Given the description of an element on the screen output the (x, y) to click on. 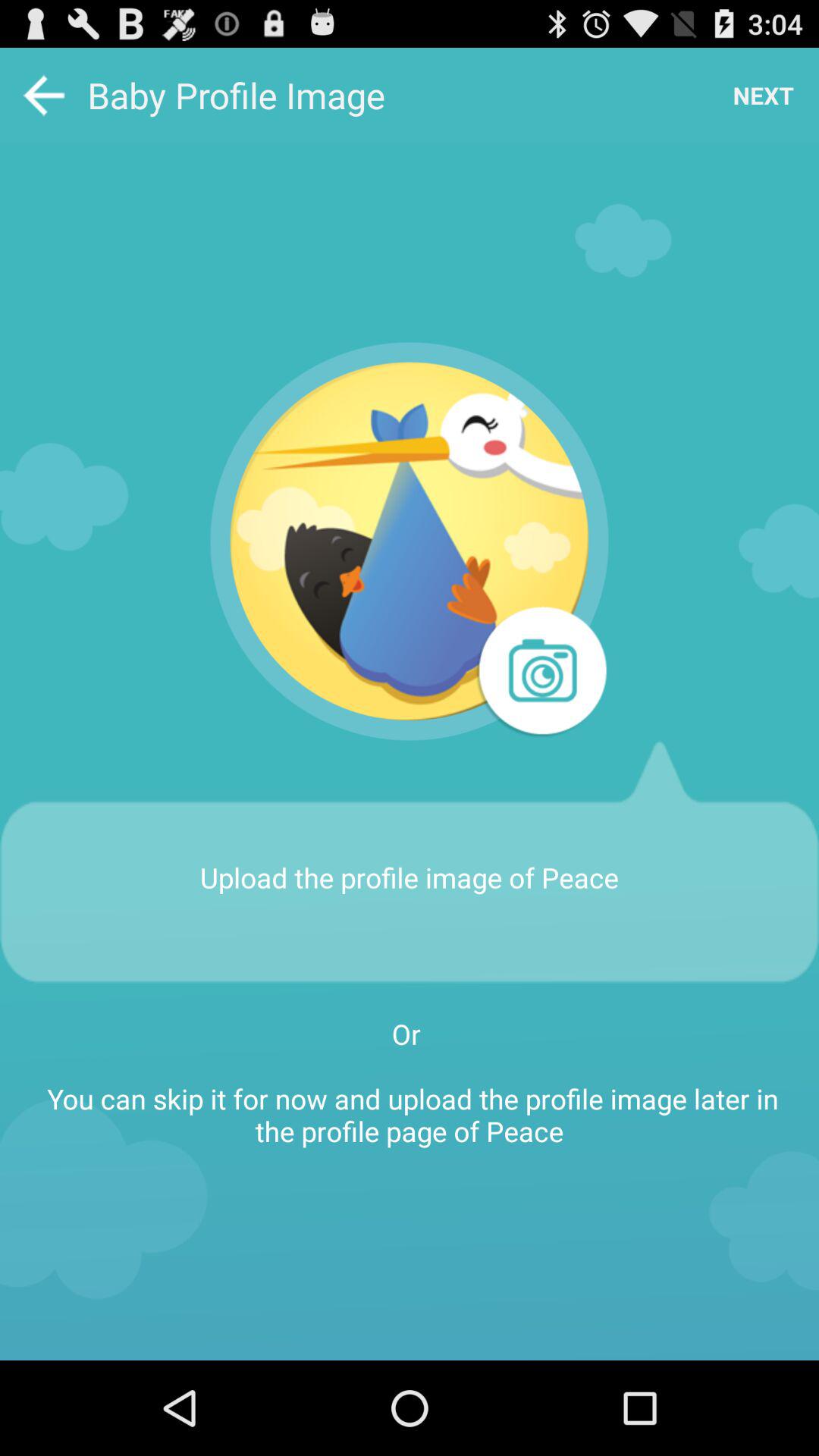
click the app above the upload the profile item (409, 541)
